Given the description of an element on the screen output the (x, y) to click on. 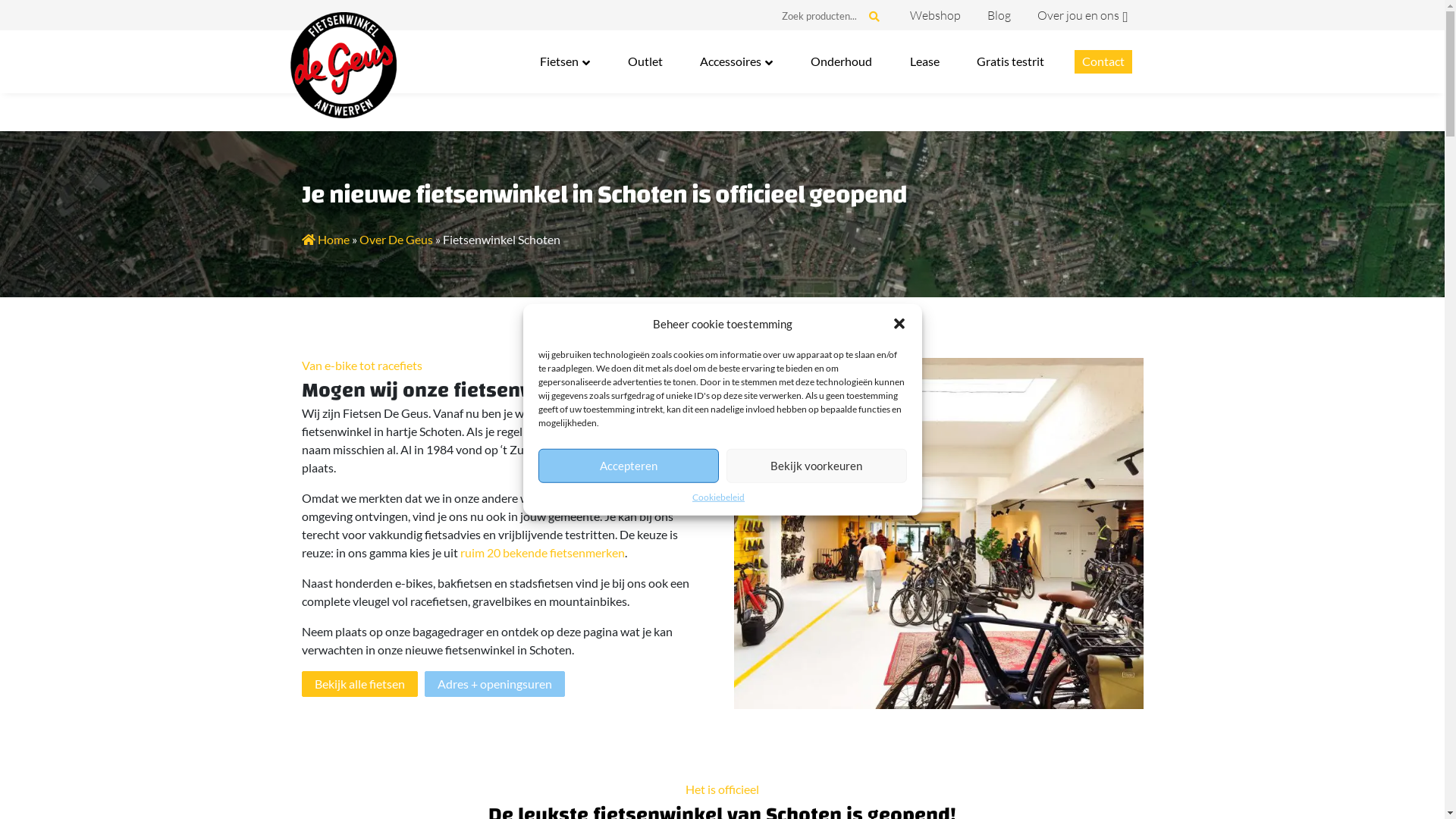
Zoek producten Element type: text (819, 18)
Webshop Element type: text (934, 15)
Accessoires Element type: text (736, 61)
Blog Element type: text (998, 15)
Adres + openingsuren Element type: text (494, 683)
ruim 20 bekende fietsenmerken Element type: text (541, 552)
Contact Element type: text (1103, 61)
Outlet Element type: text (645, 61)
Lease Element type: text (924, 61)
Over De Geus Element type: text (396, 239)
Bekijk voorkeuren Element type: text (816, 465)
Gratis testrit Element type: text (1010, 61)
Home Element type: hover (342, 65)
Accepteren Element type: text (628, 465)
Bekijk alle fietsen Element type: text (359, 683)
Home Element type: text (325, 239)
Over jou en ons Element type: text (1078, 15)
Cookiebeleid Element type: text (718, 496)
Onderhoud Element type: text (841, 61)
Fietsen Element type: text (564, 61)
